Given the description of an element on the screen output the (x, y) to click on. 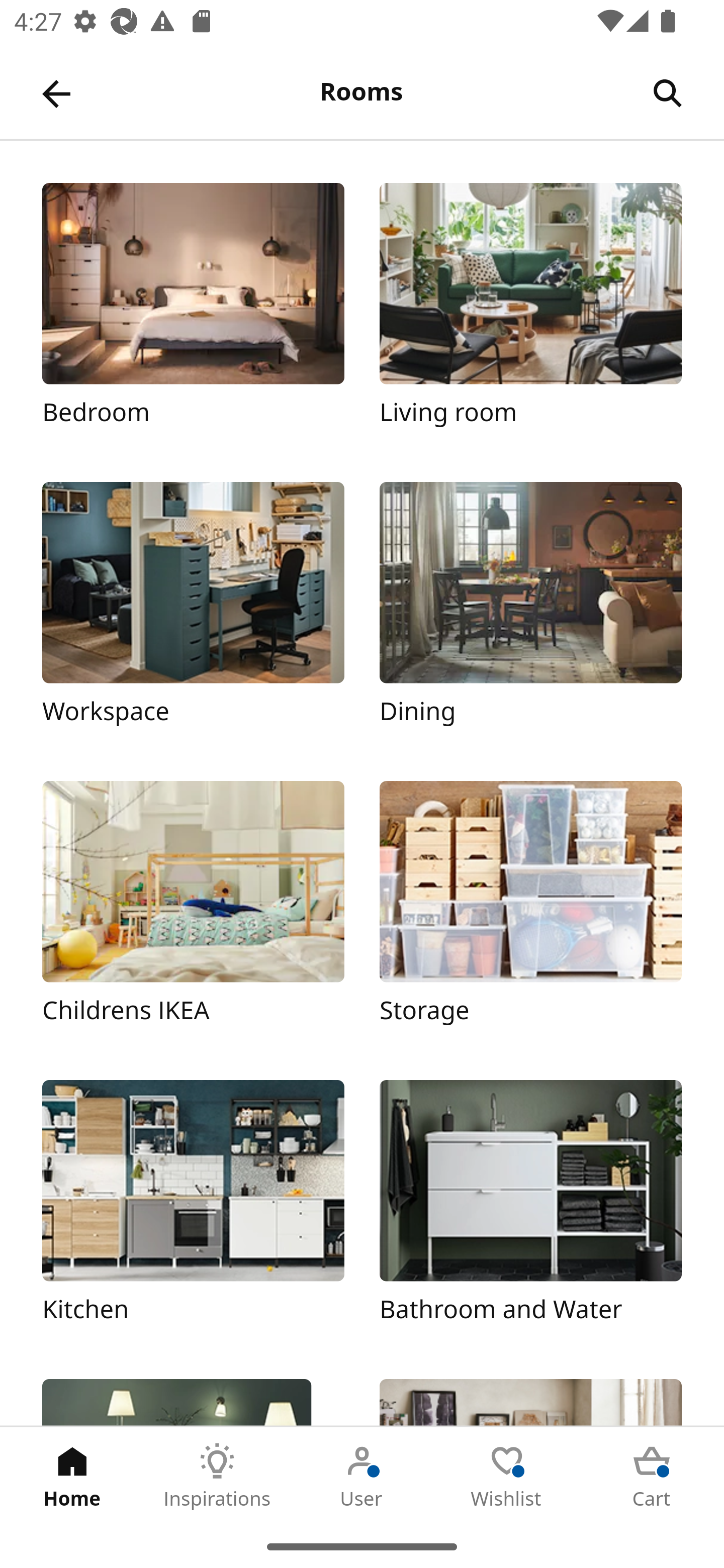
Bedroom (192, 314)
Living room (530, 314)
Workspace (192, 613)
Dining (530, 613)
Childrens IKEA (192, 912)
Storage (530, 912)
Kitchen (192, 1211)
Bathroom and Water (530, 1211)
Home
Tab 1 of 5 (72, 1476)
Inspirations
Tab 2 of 5 (216, 1476)
User
Tab 3 of 5 (361, 1476)
Wishlist
Tab 4 of 5 (506, 1476)
Cart
Tab 5 of 5 (651, 1476)
